Given the description of an element on the screen output the (x, y) to click on. 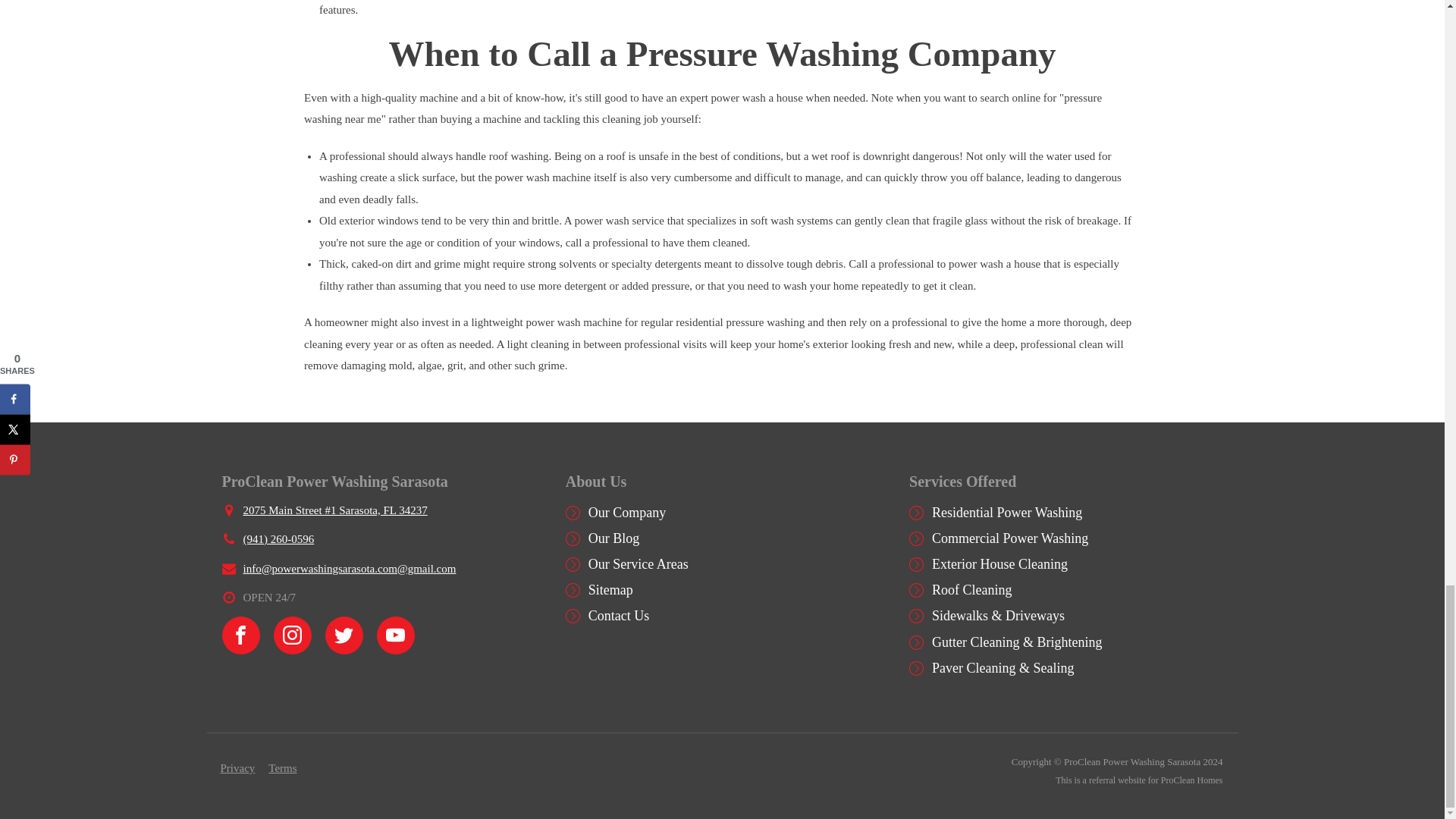
Our Service Areas (638, 564)
Exterior House Cleaning (999, 564)
Commercial Power Washing (1009, 538)
Our Company (627, 512)
Sitemap (610, 589)
Residential Power Washing (1006, 512)
Contact Us (618, 615)
Roof Cleaning (971, 589)
Our Blog (614, 538)
